Given the description of an element on the screen output the (x, y) to click on. 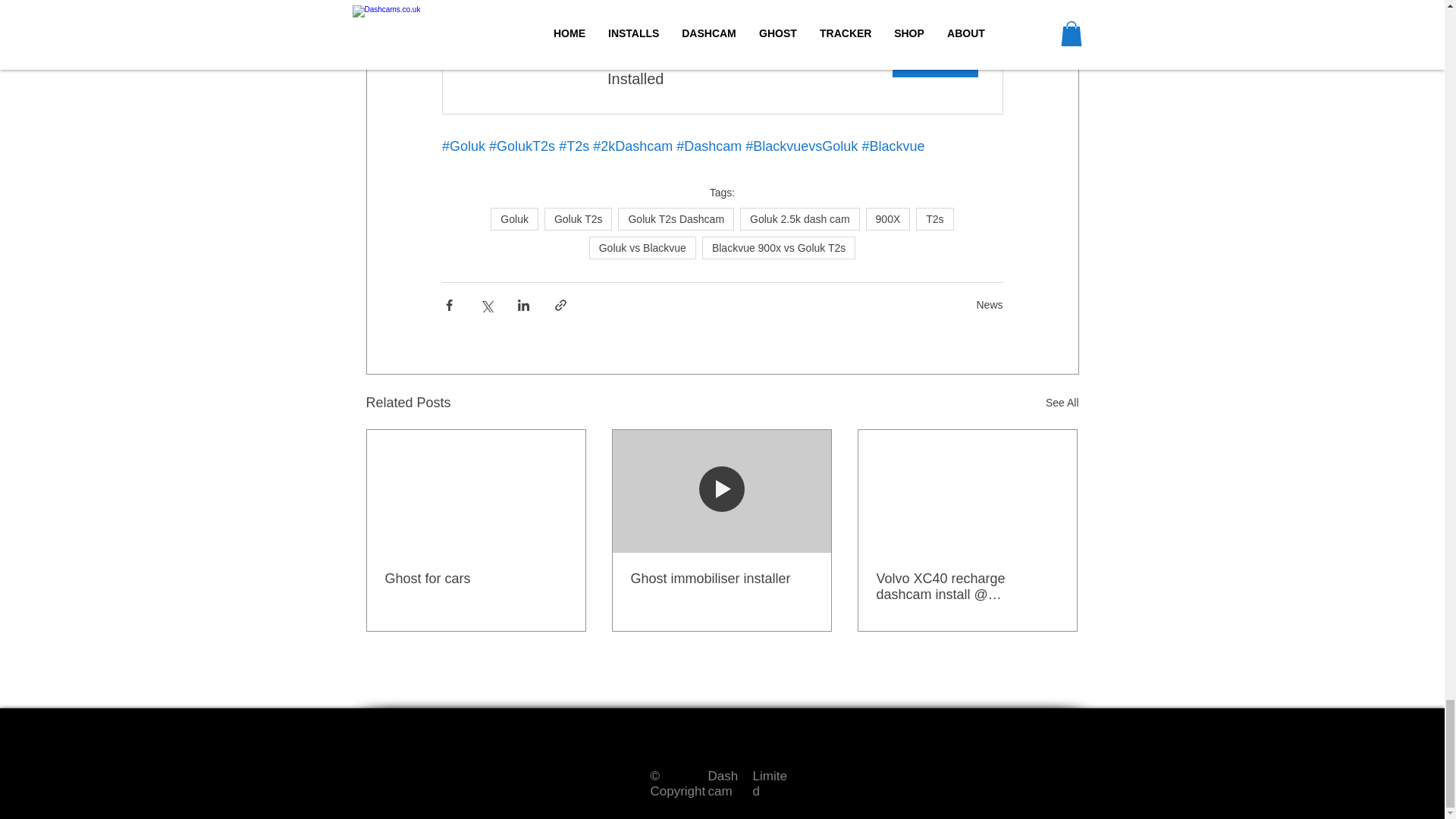
900X (888, 219)
Goluk 2.5k dash cam (799, 219)
Goluk T2s Dashcam (722, 68)
Goluk T2s (675, 219)
Goluk (578, 219)
